Given the description of an element on the screen output the (x, y) to click on. 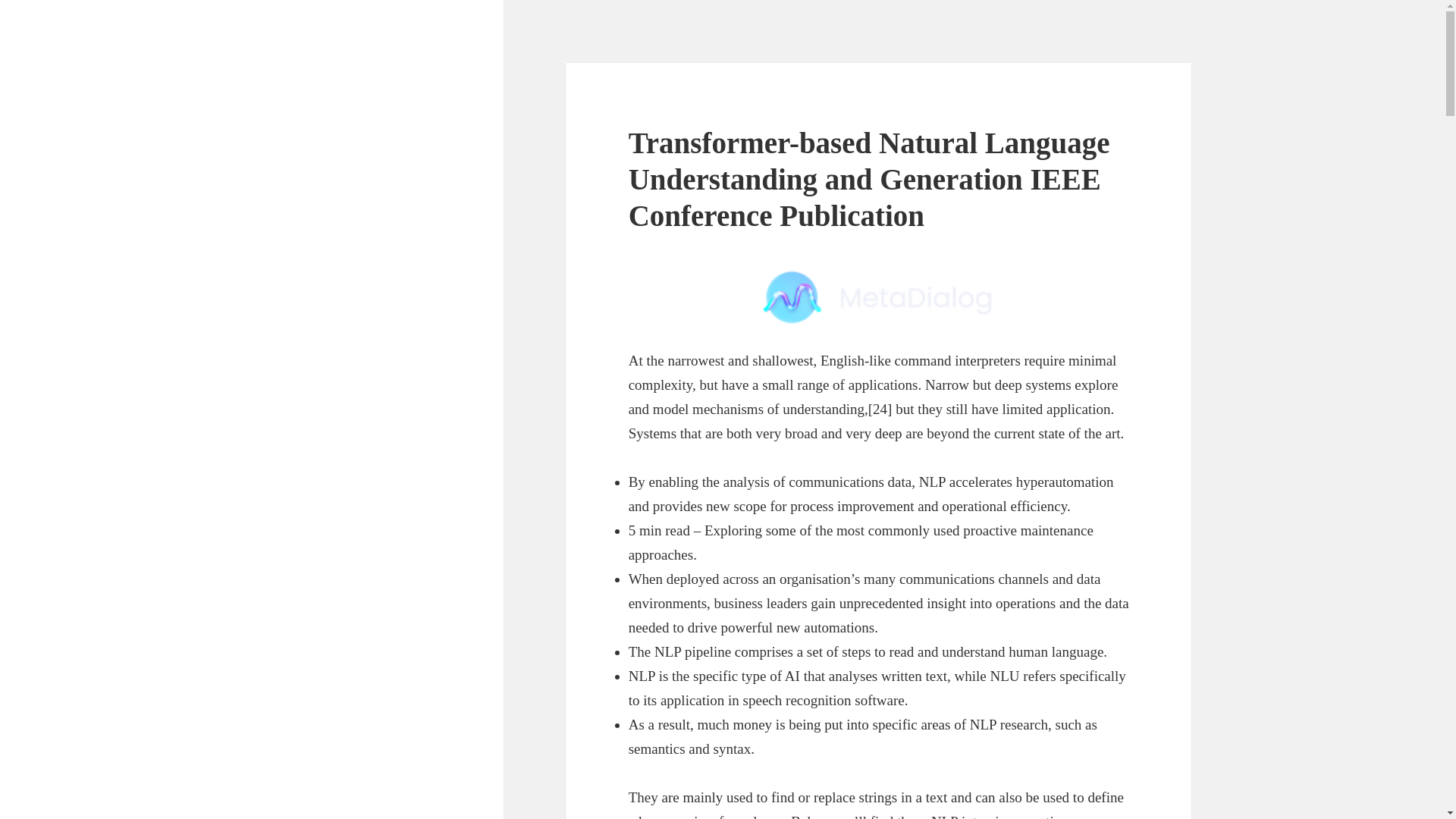
find those NLP (914, 816)
